Given the description of an element on the screen output the (x, y) to click on. 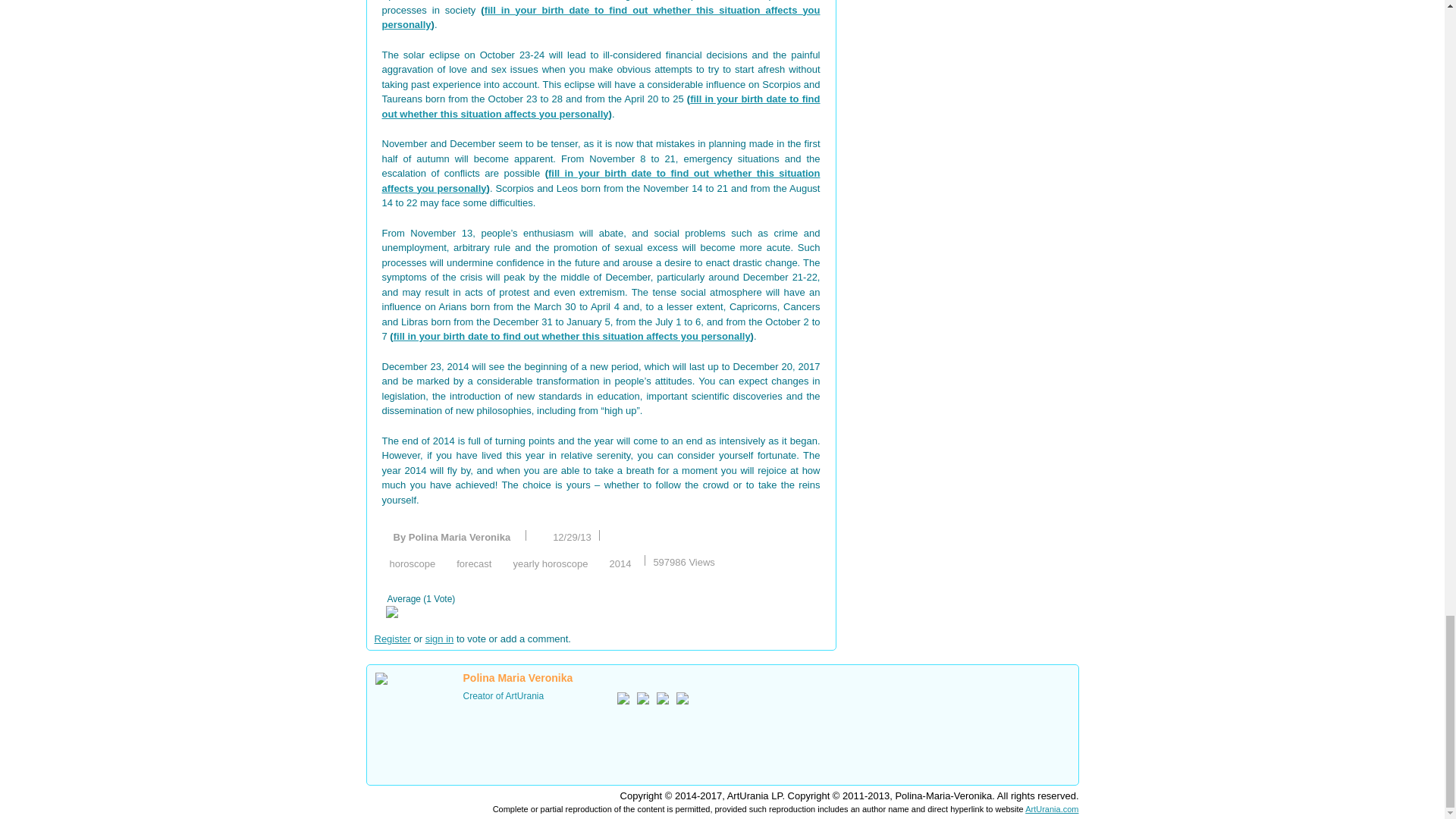
Register (392, 638)
sign in (439, 638)
